Given the description of an element on the screen output the (x, y) to click on. 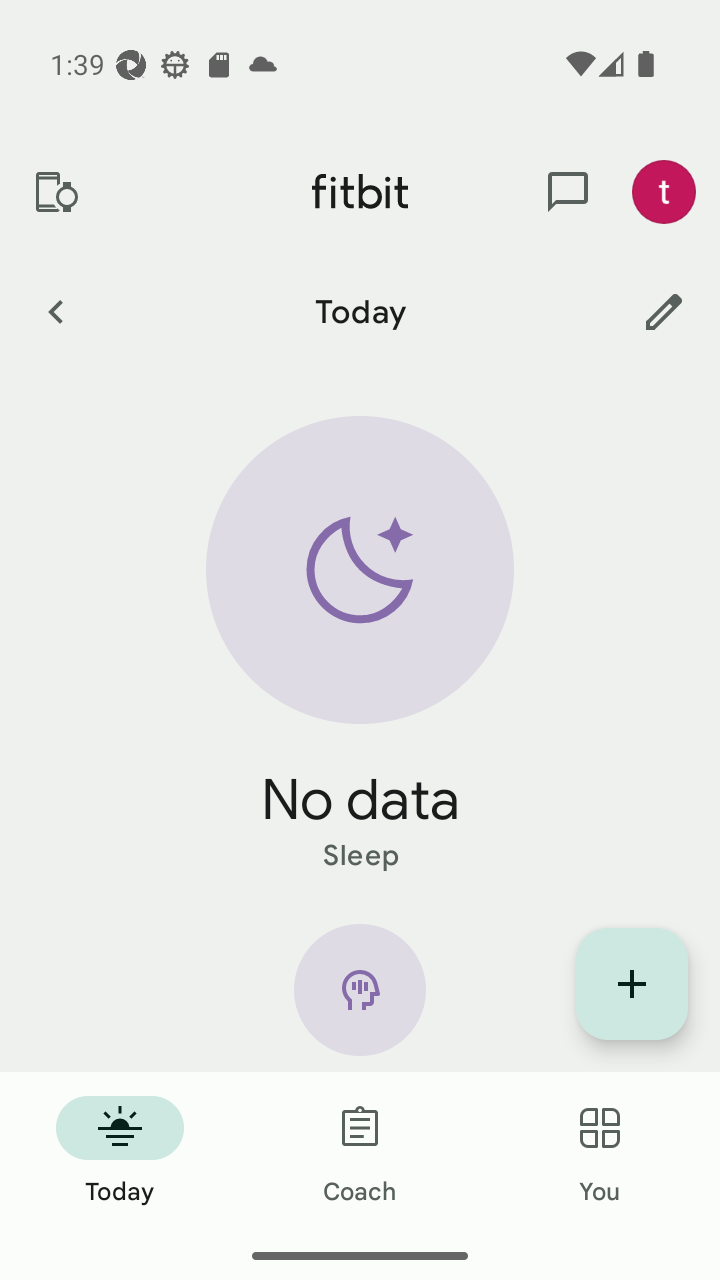
Devices and apps (55, 191)
messages and notifications (567, 191)
Previous Day (55, 311)
Customize (664, 311)
Sleep static hero arc No data Sleep (359, 645)
Mindfulness icon (360, 998)
Display list of quick log entries (632, 983)
Coach (359, 1151)
You (600, 1151)
